Given the description of an element on the screen output the (x, y) to click on. 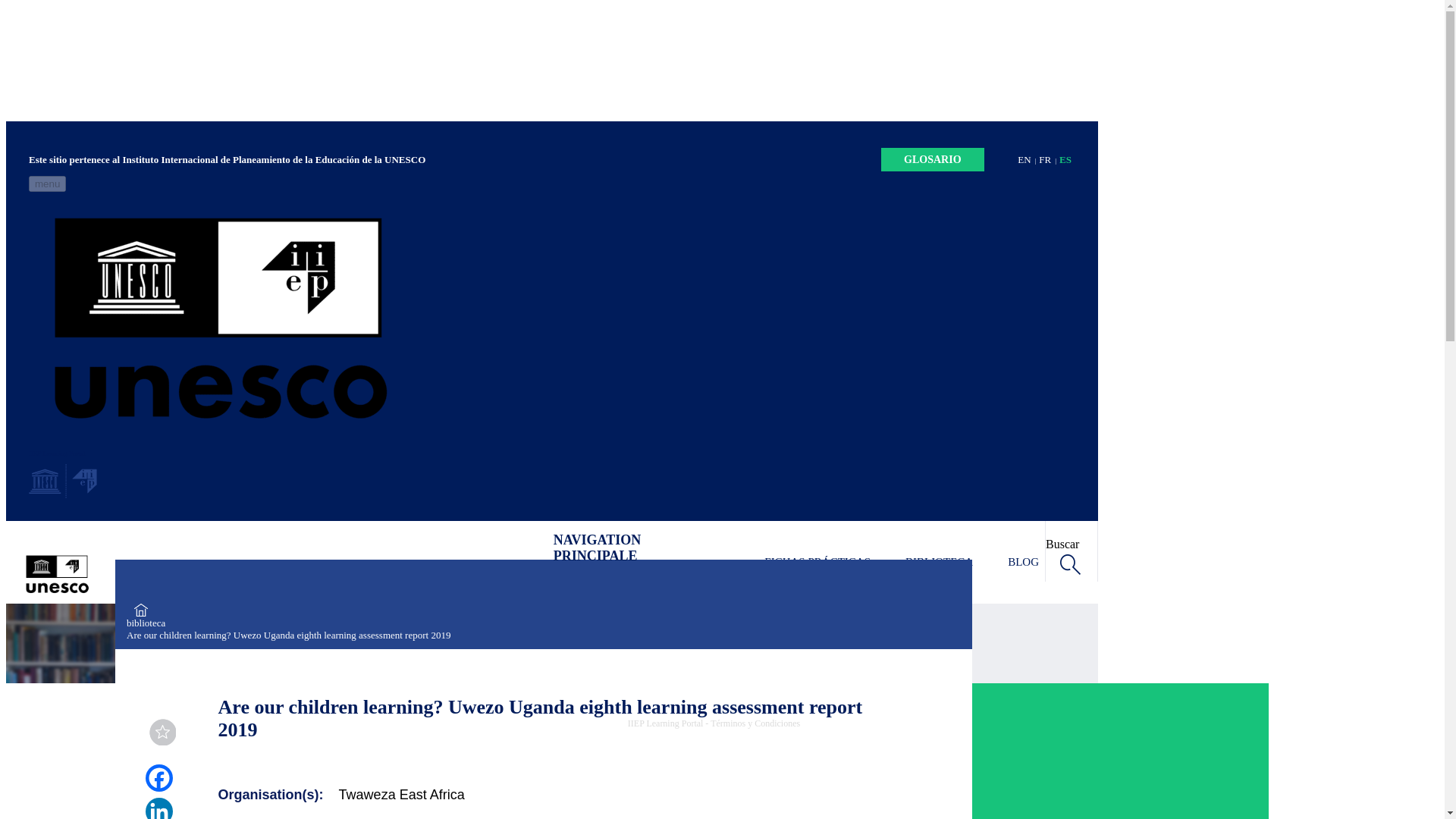
FR (1045, 159)
Escriba lo que quiere buscar. (1063, 567)
IIEP Learning Portal (181, 573)
BIBLIOTECA (938, 562)
EN (1023, 159)
Inicio (181, 573)
GLOSARIO (932, 159)
Facebook (157, 777)
logo (63, 480)
IIEP Learning Portal (552, 446)
LinkedIn (157, 808)
ES (1065, 159)
Inicio (552, 446)
